Given the description of an element on the screen output the (x, y) to click on. 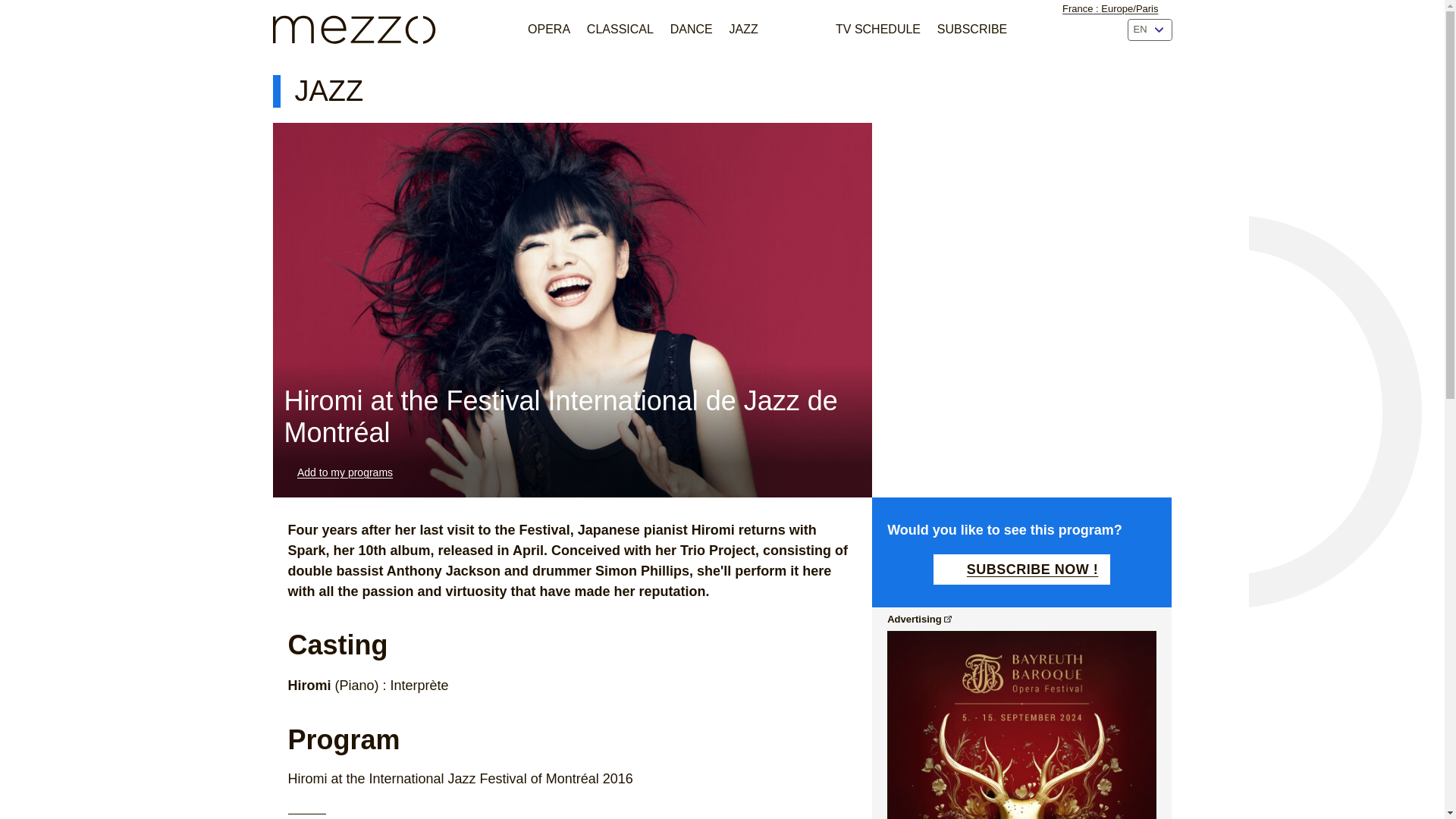
SUBSCRIBE (971, 29)
SUBSCRIBE NOW ! (1021, 569)
Share (1162, 90)
SEARCH (1101, 29)
JAZZ (742, 29)
MY ACCOUNT (1032, 29)
Search (1101, 29)
Add to my programs (338, 472)
CLASSICAL (619, 29)
My account (1032, 29)
